Given the description of an element on the screen output the (x, y) to click on. 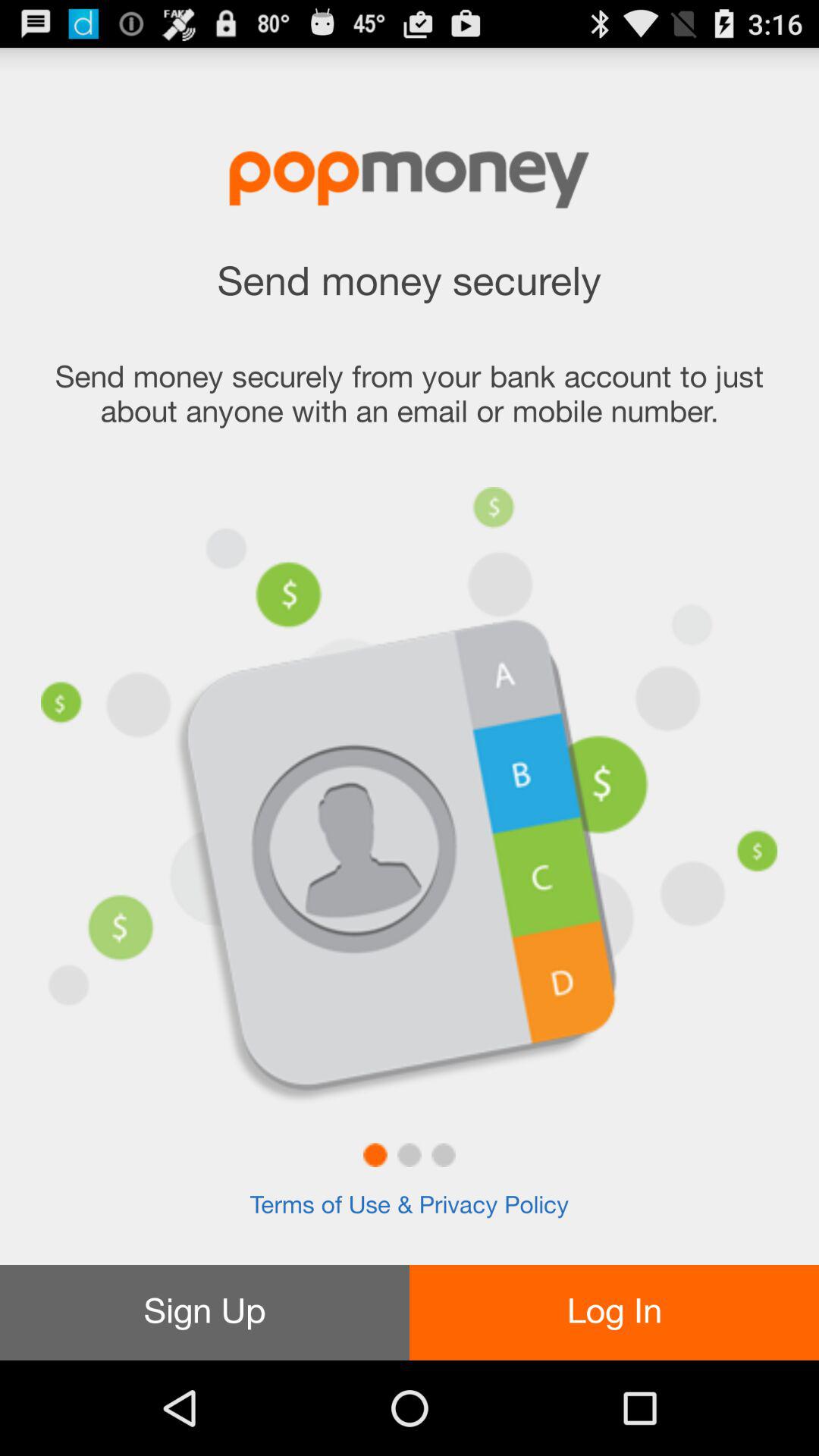
swipe to the sign up item (204, 1312)
